Given the description of an element on the screen output the (x, y) to click on. 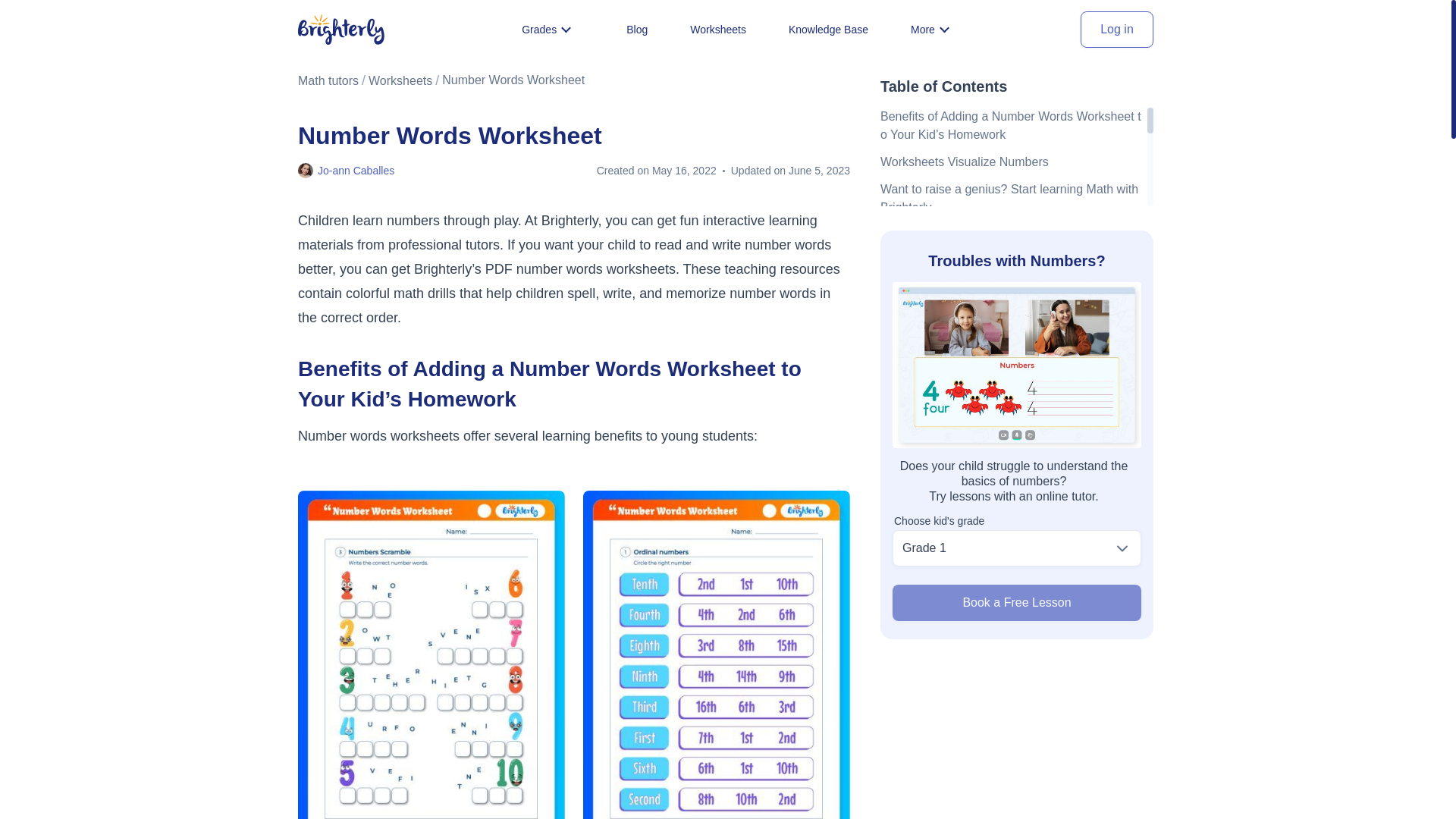
Jo-ann Caballes (355, 170)
Worksheets (718, 29)
Blog (636, 29)
Brighterly (341, 29)
Knowledge Base (829, 29)
CTA-Images-for-Numbers (1016, 364)
Math tutors (328, 80)
Book a Free Lesson (1016, 602)
Log in (1116, 29)
Worksheets (400, 80)
